Given the description of an element on the screen output the (x, y) to click on. 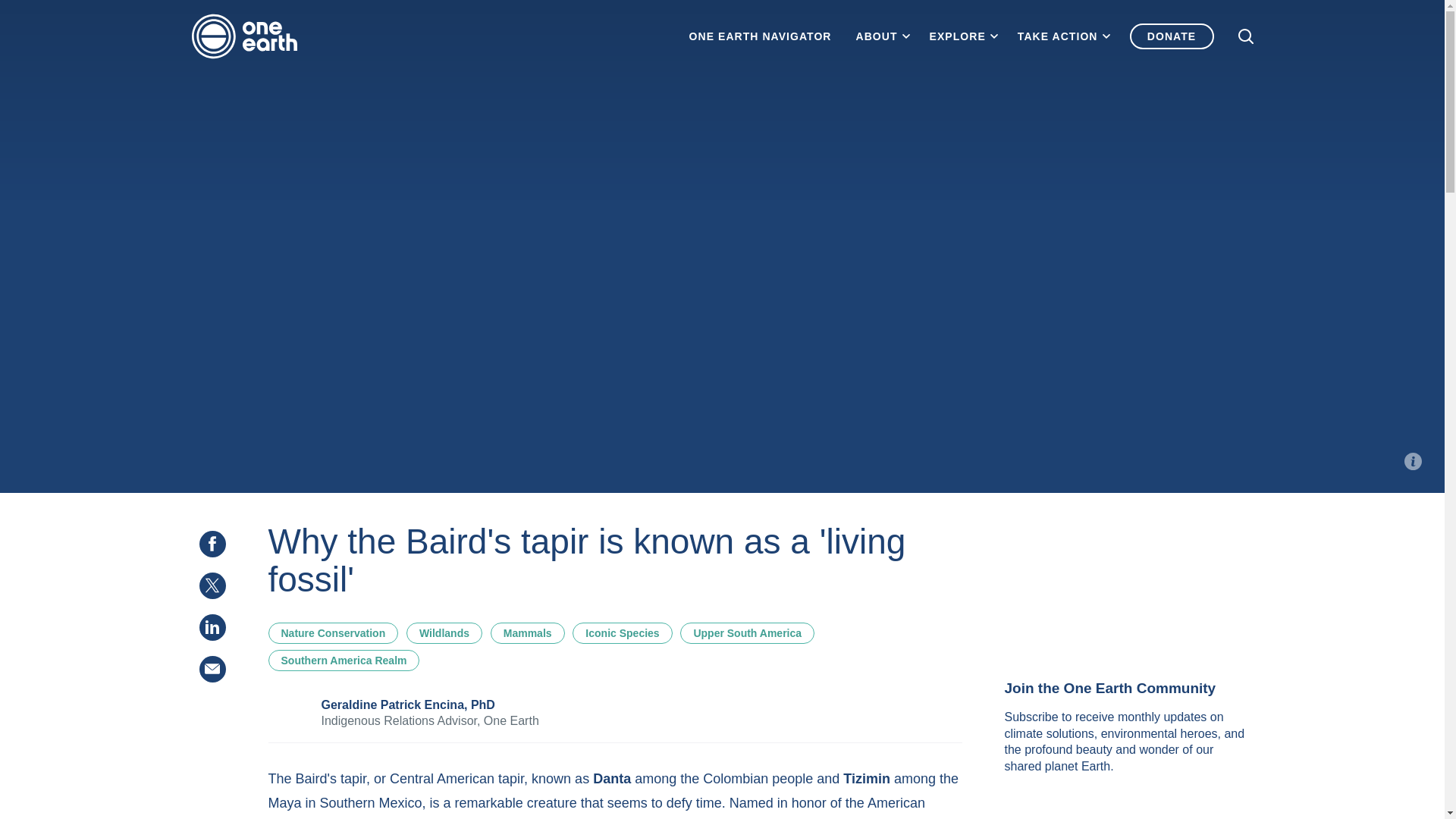
One Earth (248, 36)
TAKE ACTION (1057, 36)
ONE EARTH NAVIGATOR (759, 36)
DONATE (1171, 36)
Why the Baird's tapir is known as a 'living fossil' (215, 606)
